Given the description of an element on the screen output the (x, y) to click on. 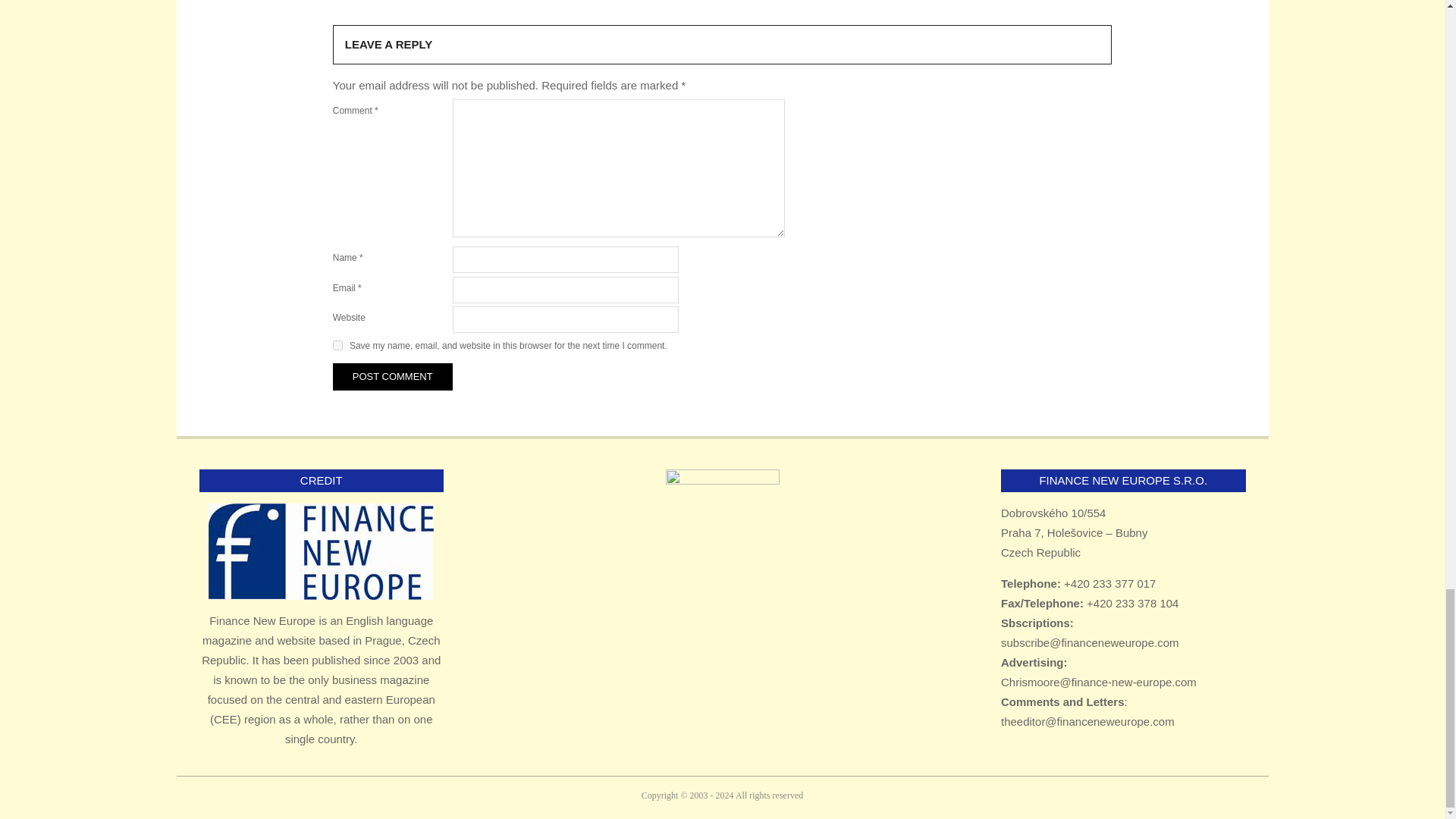
yes (337, 345)
Post Comment (392, 376)
Post Comment (392, 376)
